Given the description of an element on the screen output the (x, y) to click on. 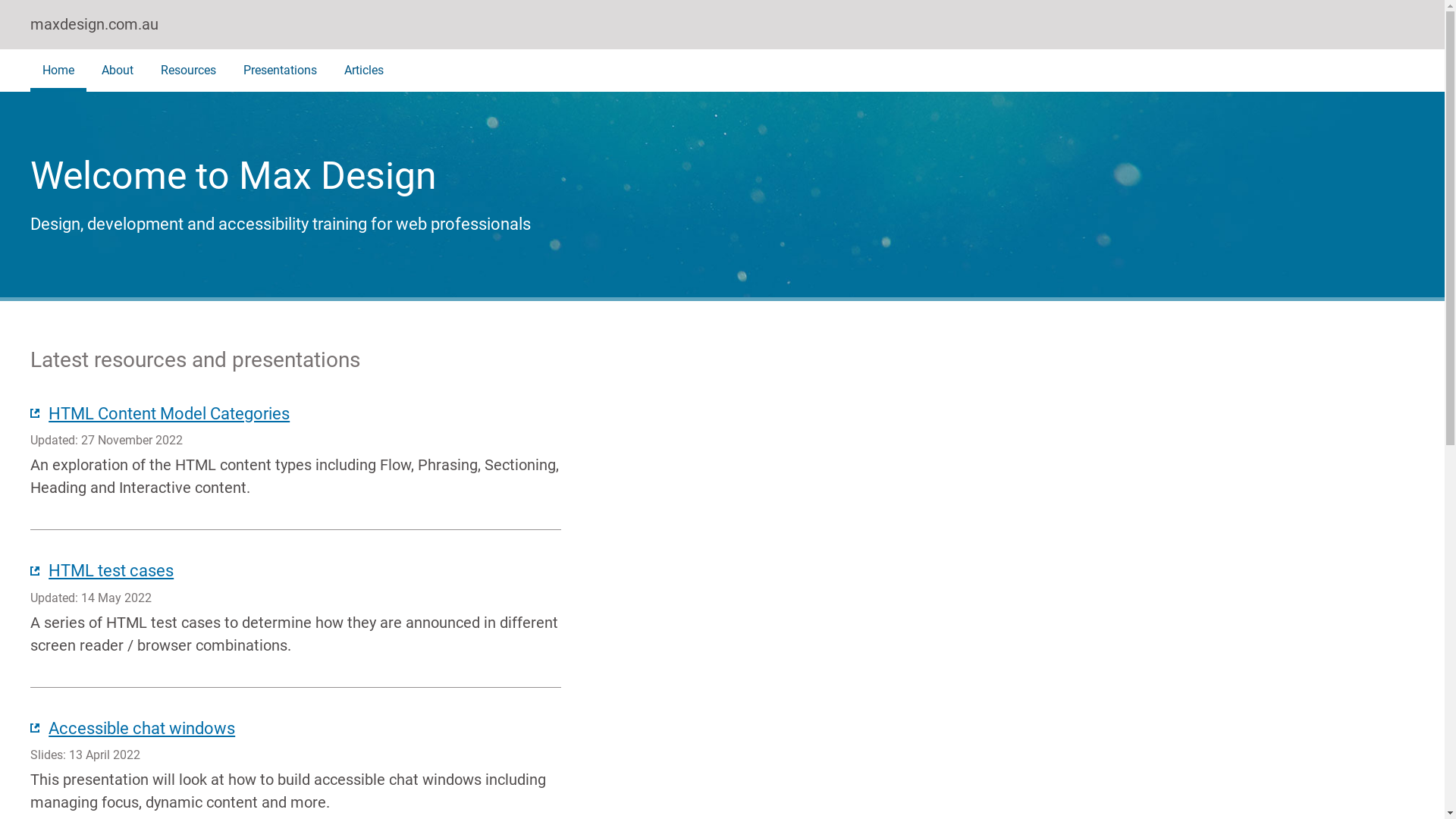
Articles Element type: text (363, 70)
About Element type: text (117, 70)
Presentations Element type: text (280, 70)
HTML Content Model Categories Element type: text (159, 413)
Resources Element type: text (188, 70)
Home Element type: text (58, 70)
Accessible chat windows Element type: text (132, 727)
HTML test cases Element type: text (101, 570)
